Given the description of an element on the screen output the (x, y) to click on. 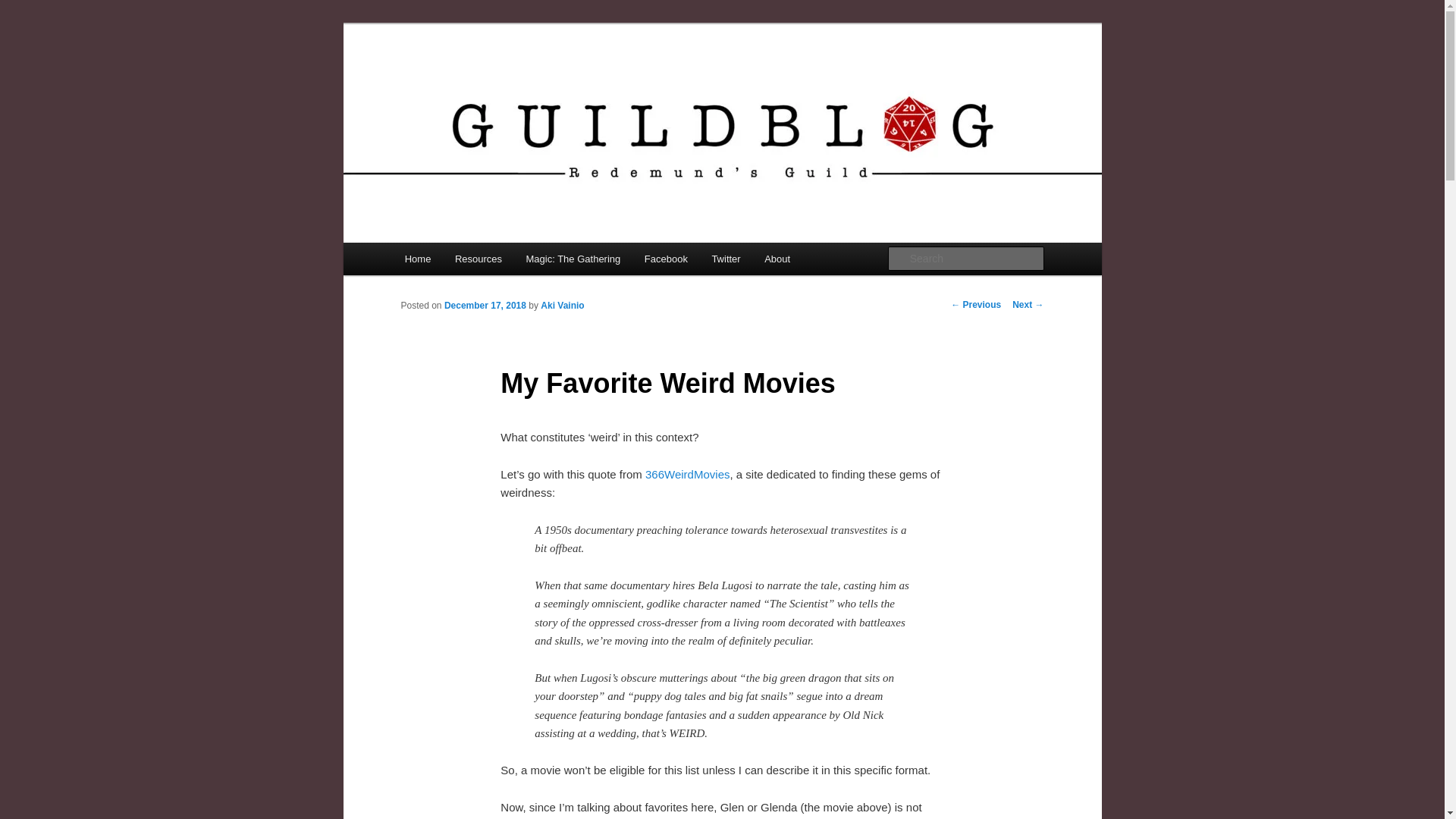
Aki Vainio (561, 305)
About (777, 258)
Facebook (665, 258)
21:30 (484, 305)
December 17, 2018 (484, 305)
Search (24, 8)
Resources (477, 258)
366WeirdMovies (687, 473)
Magic: The Gathering (572, 258)
